Given the description of an element on the screen output the (x, y) to click on. 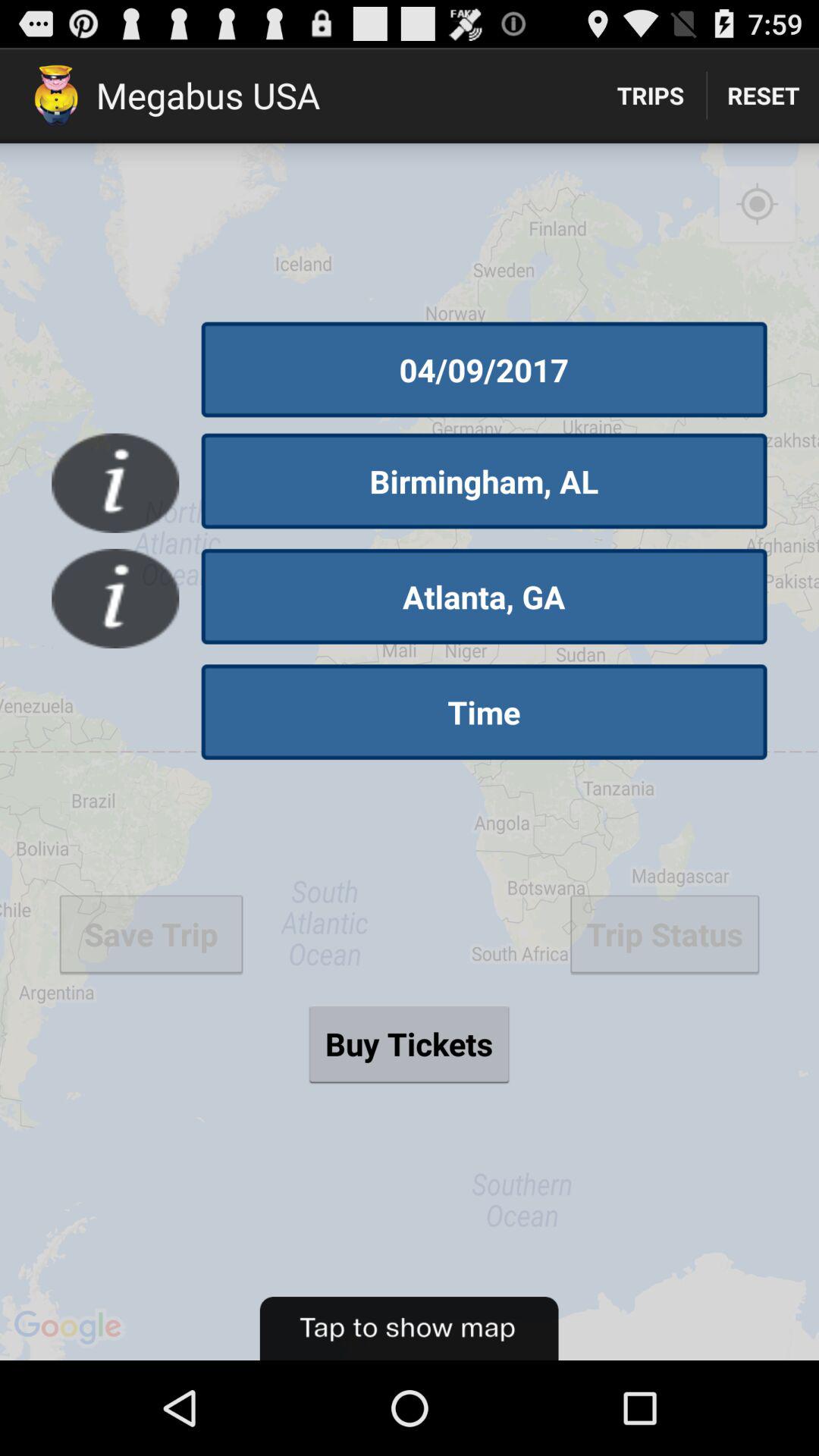
choose item above 04/09/2017 item (757, 204)
